Given the description of an element on the screen output the (x, y) to click on. 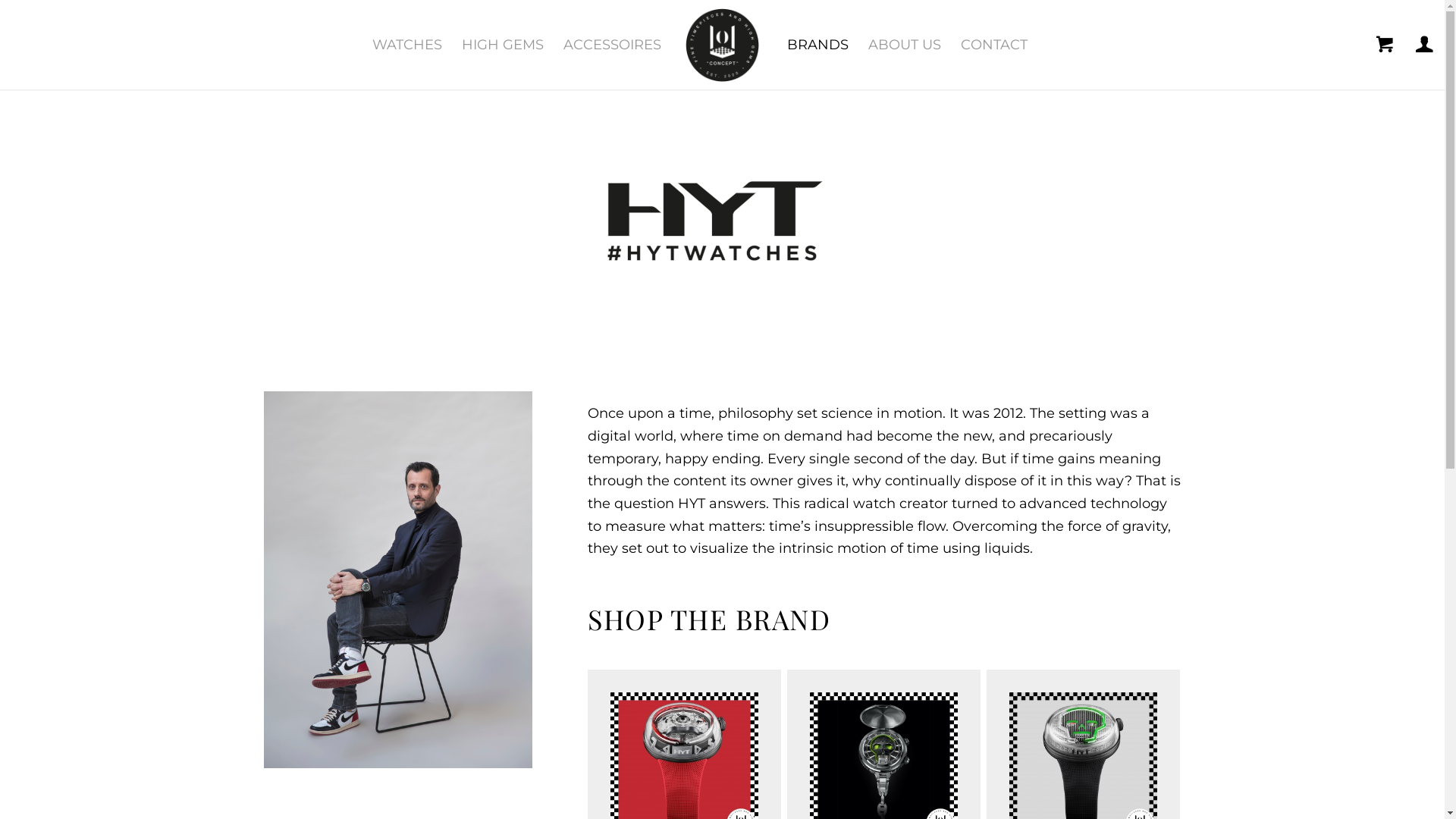
ABOUT US Element type: text (904, 44)
WATCHES Element type: text (406, 44)
BRANDS Element type: text (816, 44)
CONTACT Element type: text (993, 44)
hyt-logo Element type: hover (721, 220)
HIGH GEMS Element type: text (502, 44)
HYT-GregoryDourde-3-RGB(1)(1) Element type: hover (398, 579)
ACCESSOIRES Element type: text (612, 44)
